Given the description of an element on the screen output the (x, y) to click on. 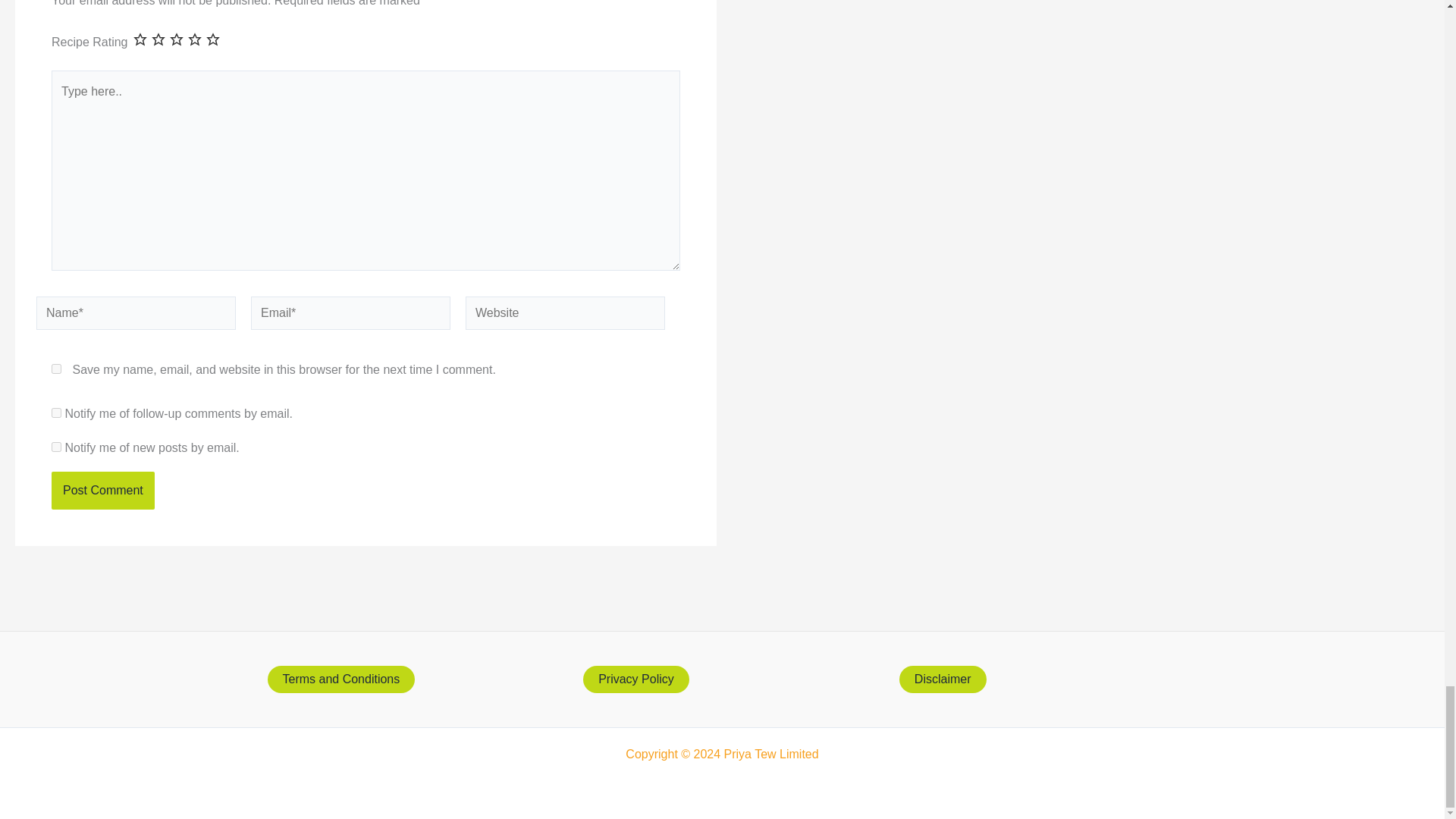
subscribe (55, 447)
yes (55, 368)
subscribe (55, 412)
Post Comment (102, 490)
